Given the description of an element on the screen output the (x, y) to click on. 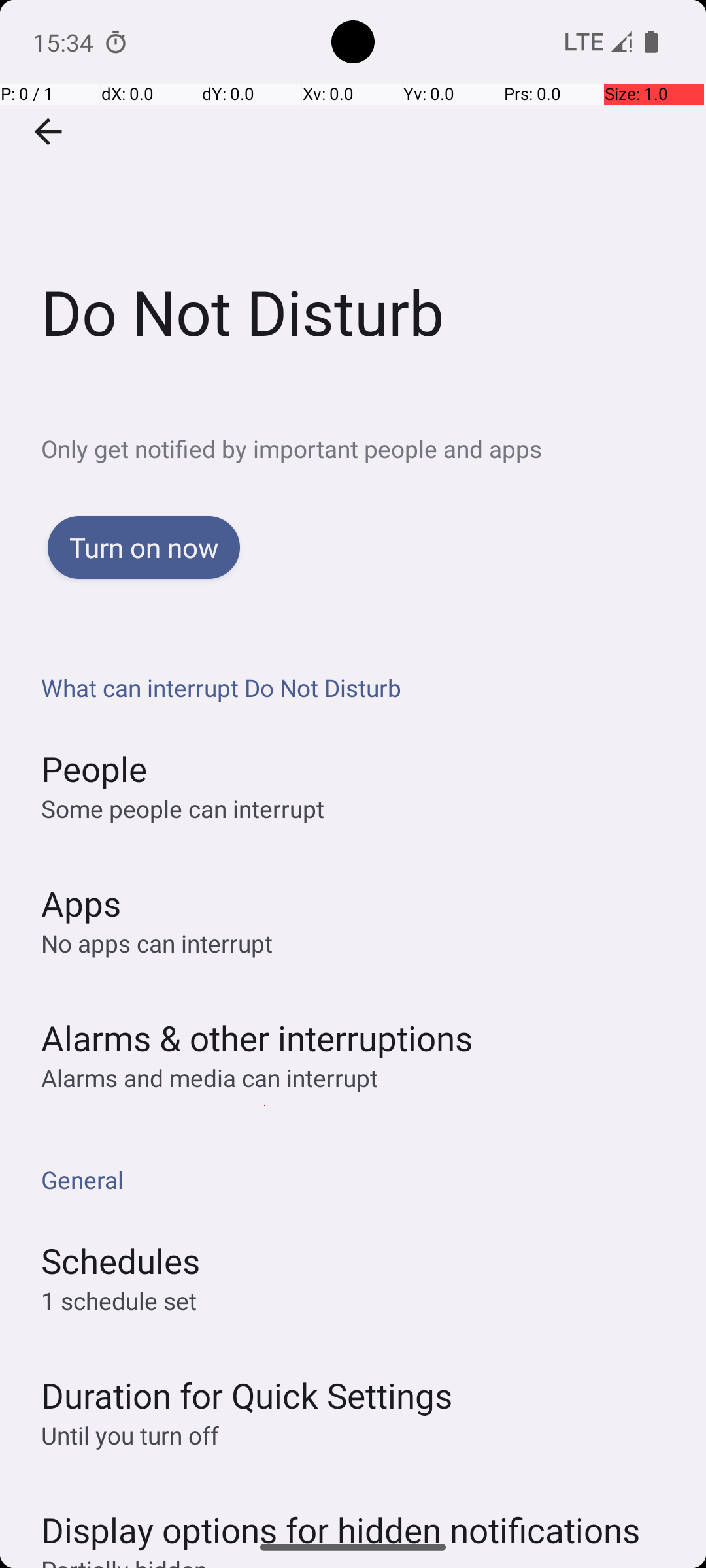
Only get notified by important people and apps Element type: android.widget.TextView (373, 448)
What can interrupt Do Not Disturb Element type: android.widget.TextView (359, 687)
People Element type: android.widget.TextView (94, 768)
Some people can interrupt Element type: android.widget.TextView (182, 808)
No apps can interrupt Element type: android.widget.TextView (156, 942)
Alarms & other interruptions Element type: android.widget.TextView (256, 1037)
Alarms and media can interrupt Element type: android.widget.TextView (209, 1077)
Schedules Element type: android.widget.TextView (120, 1260)
1 schedule set Element type: android.widget.TextView (118, 1300)
Duration for Quick Settings Element type: android.widget.TextView (246, 1395)
Until you turn off Element type: android.widget.TextView (129, 1434)
Display options for hidden notifications Element type: android.widget.TextView (340, 1516)
